Given the description of an element on the screen output the (x, y) to click on. 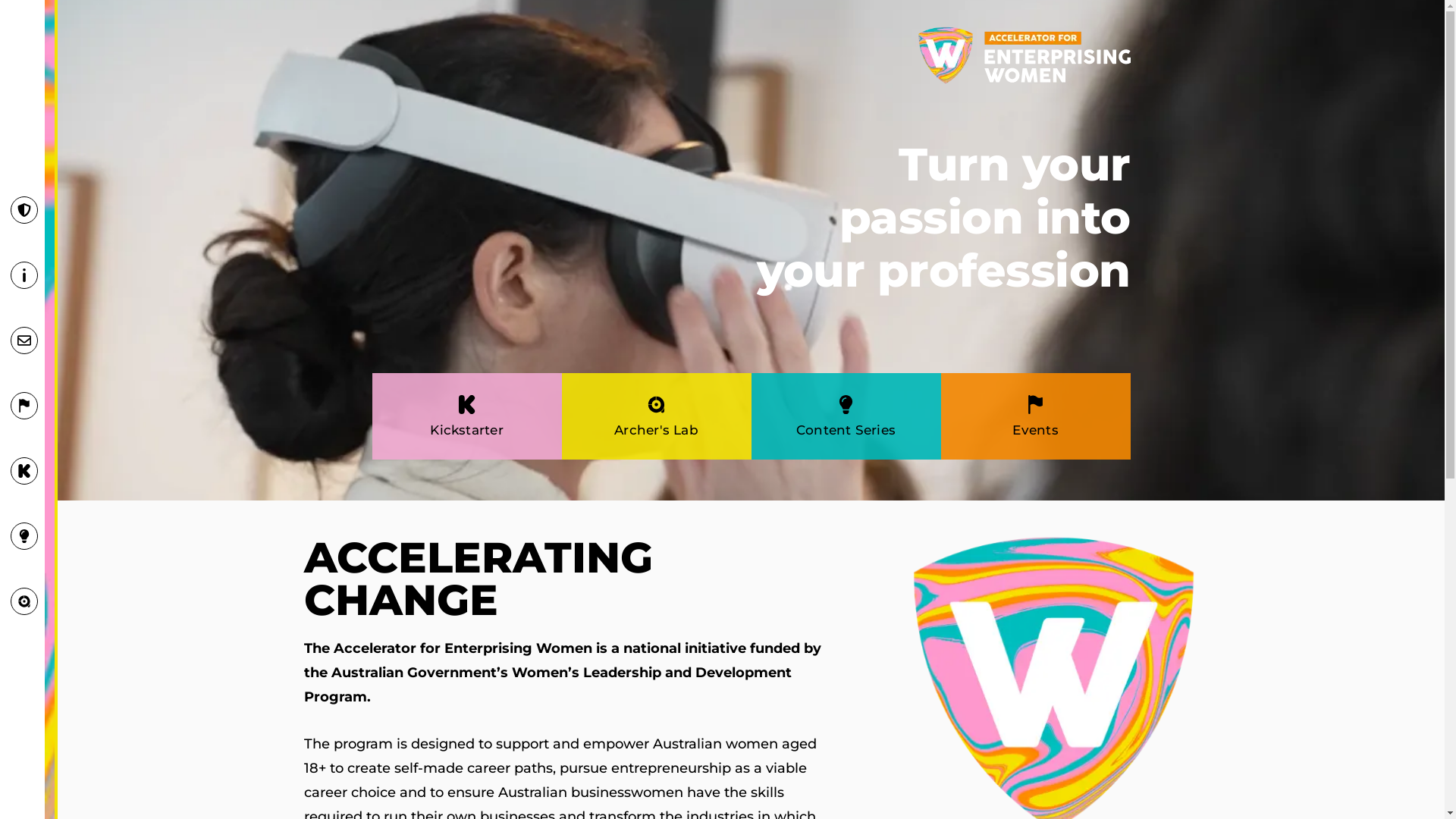
Kickstarter Element type: text (465, 429)
Archer's Lab Element type: text (656, 429)
Content Series Element type: text (845, 429)
Skip to content Element type: text (11, 31)
Events Element type: text (1034, 429)
